Given the description of an element on the screen output the (x, y) to click on. 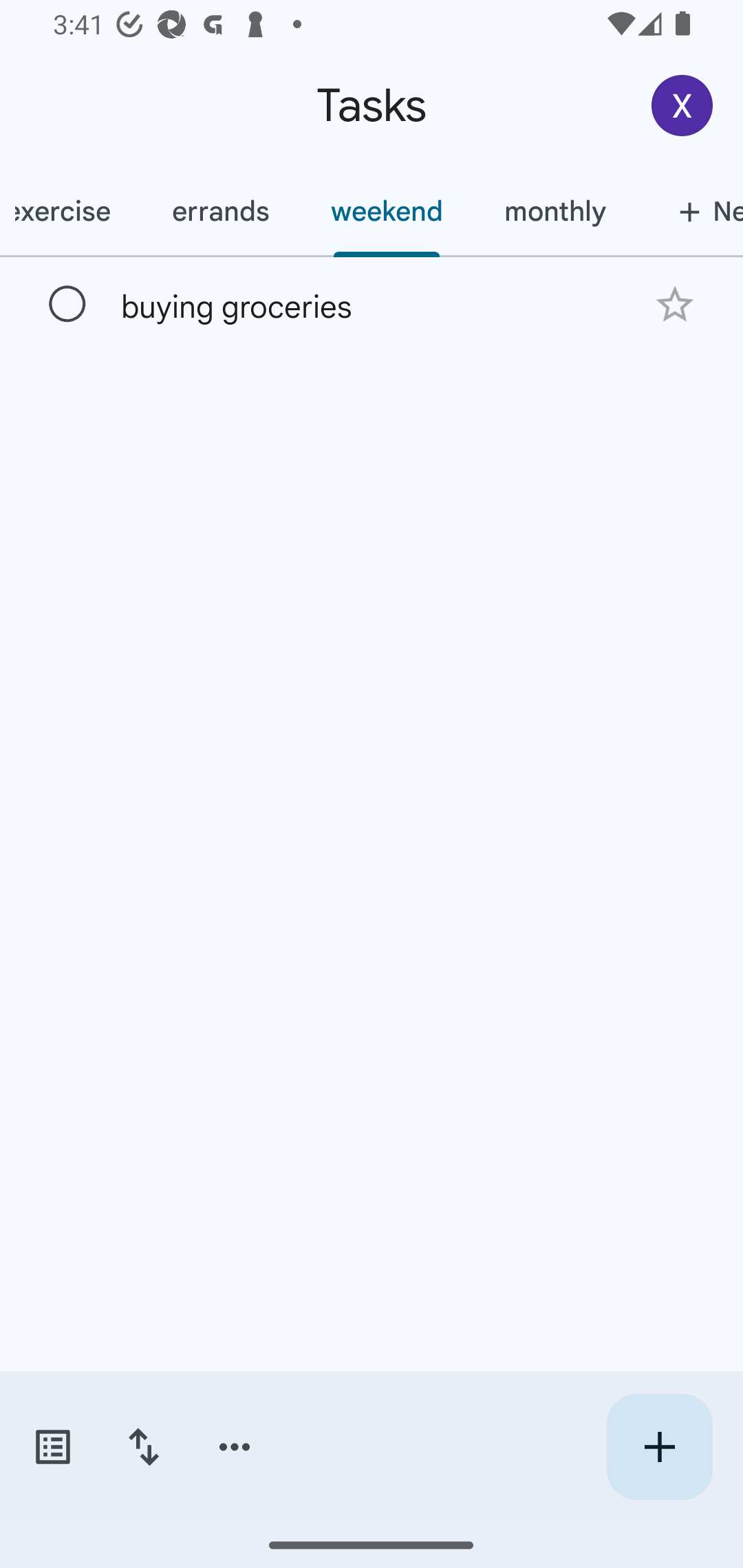
exercise (70, 211)
errands (220, 211)
monthly (554, 211)
New list (689, 211)
Add star (674, 303)
Mark as complete (67, 304)
Switch task lists (52, 1447)
Create new task (659, 1446)
Change sort order (143, 1446)
More options (234, 1446)
